Given the description of an element on the screen output the (x, y) to click on. 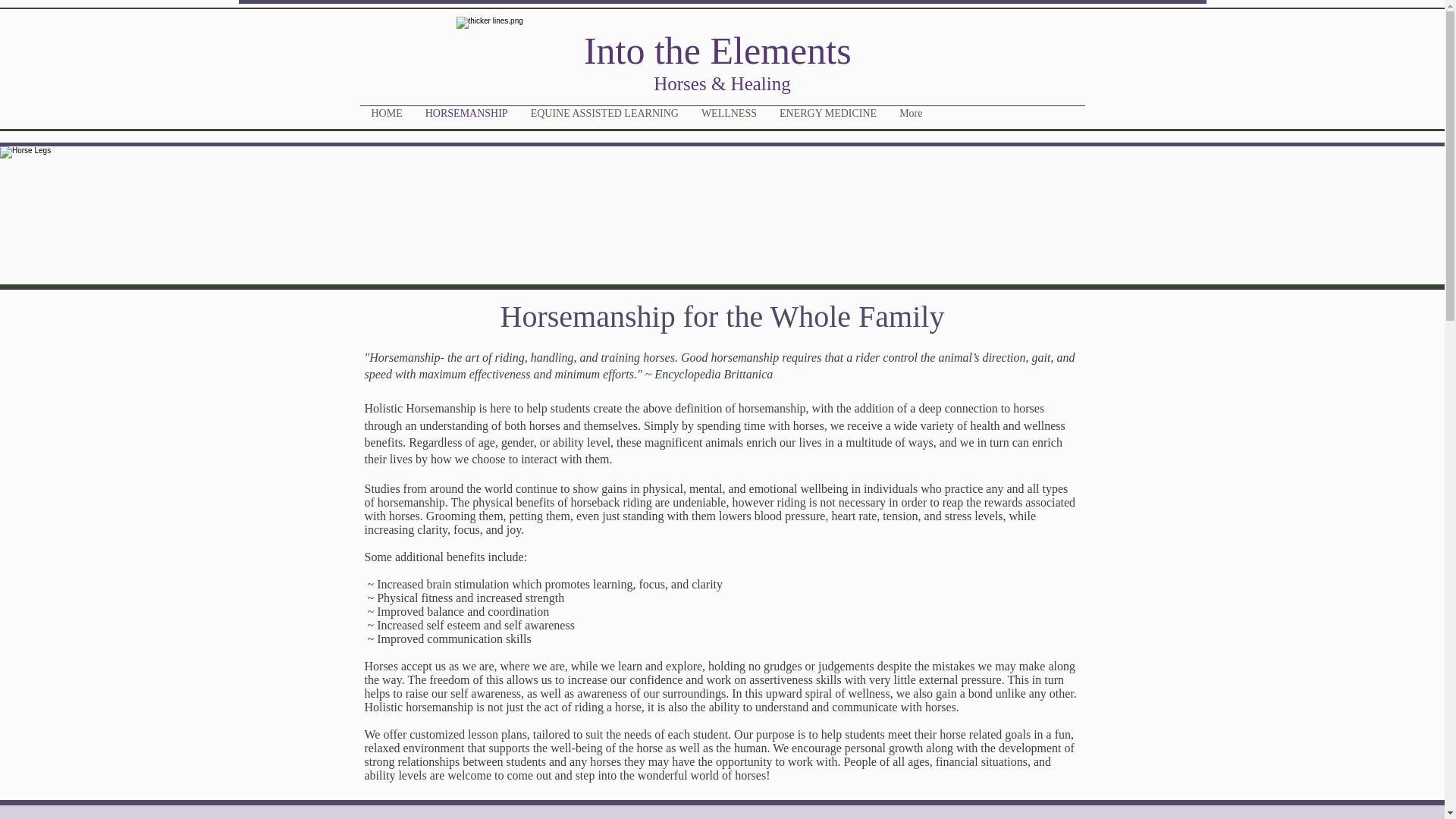
HOME (386, 118)
ENERGY MEDICINE (828, 118)
horses (659, 357)
HORSEMANSHIP (466, 118)
WELLNESS (729, 118)
EQUINE ASSISTED LEARNING (604, 118)
